Given the description of an element on the screen output the (x, y) to click on. 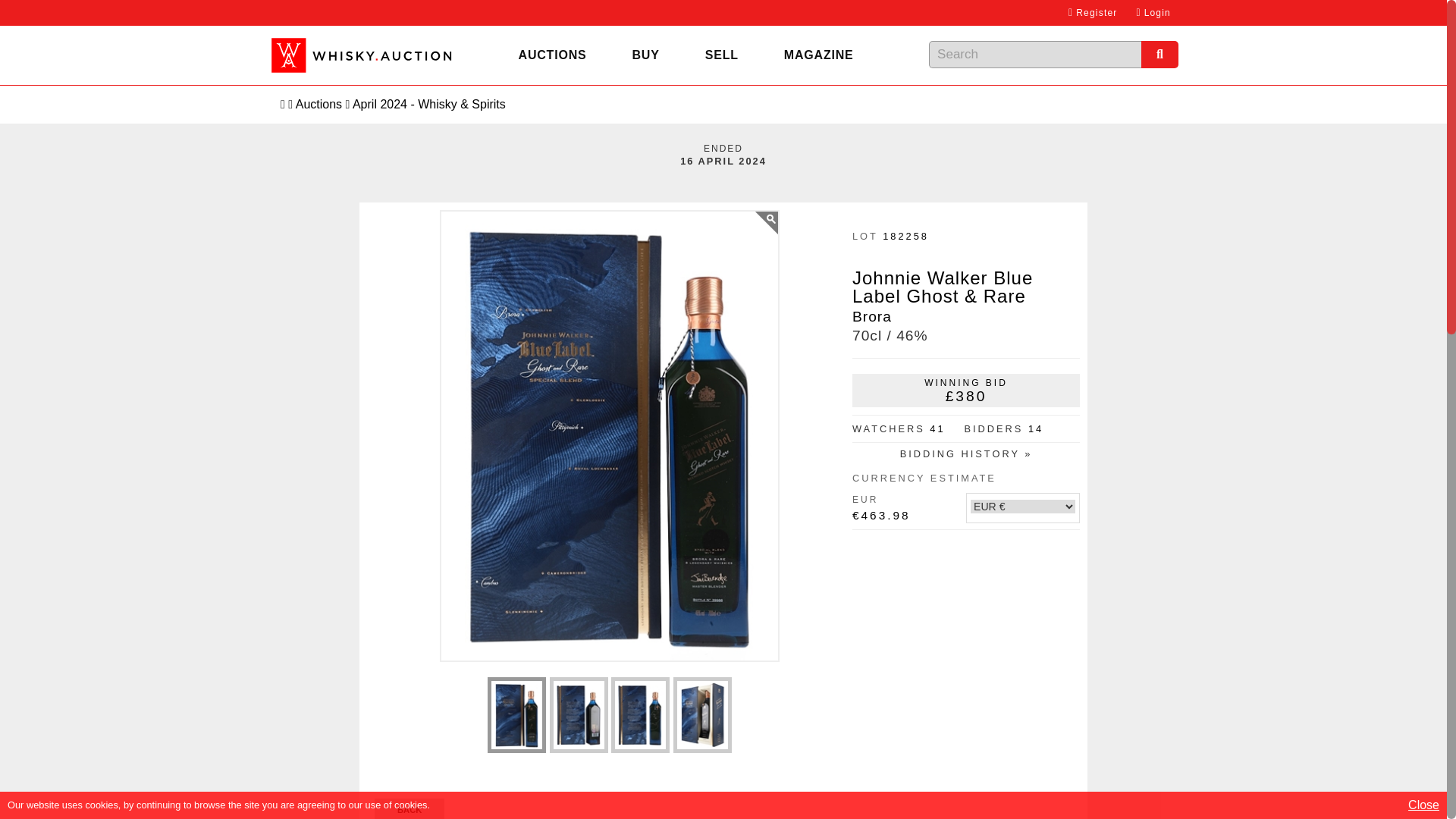
Search (1159, 53)
BUY (646, 55)
Auctions (318, 103)
SELL (721, 55)
Auctions (553, 55)
Login (1152, 13)
Buy (646, 55)
MAGAZINE (818, 55)
Back (409, 808)
Sell (721, 55)
Register (1092, 13)
AUCTIONS (553, 55)
Magazine (818, 55)
